Given the description of an element on the screen output the (x, y) to click on. 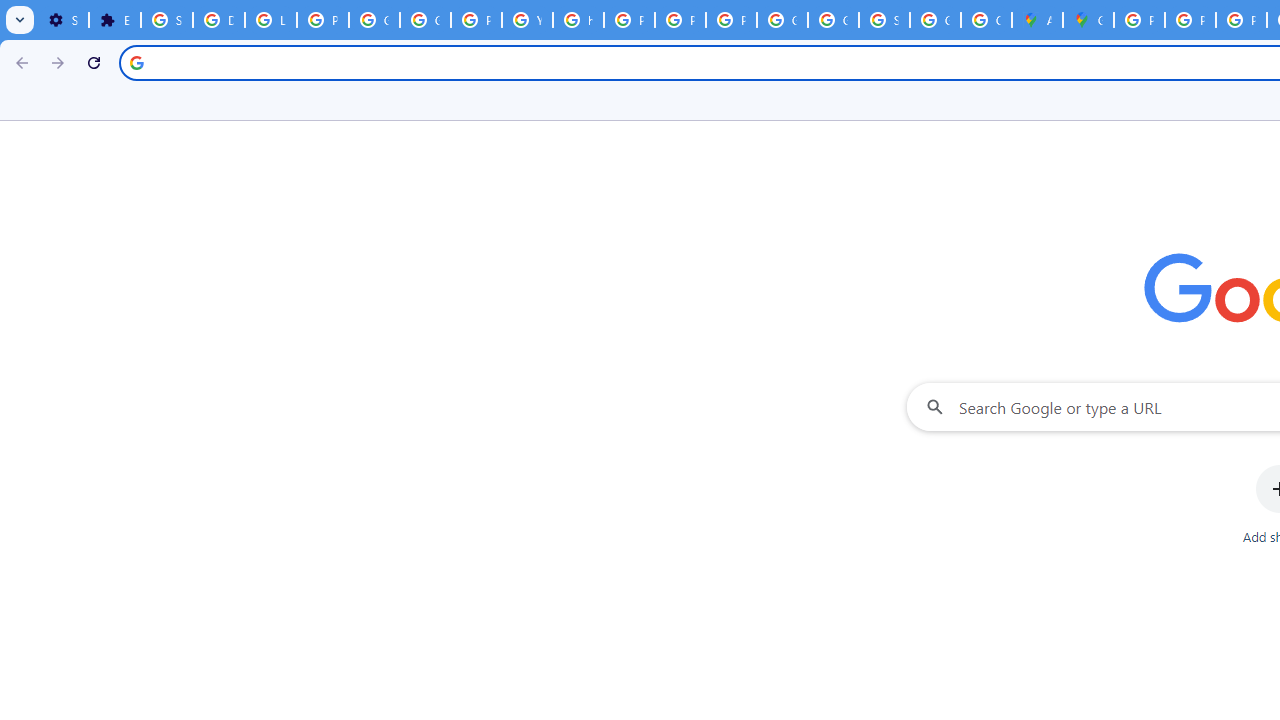
YouTube (526, 20)
Sign in - Google Accounts (166, 20)
Policy Accountability and Transparency - Transparency Center (1138, 20)
Delete photos & videos - Computer - Google Photos Help (218, 20)
